Given the description of an element on the screen output the (x, y) to click on. 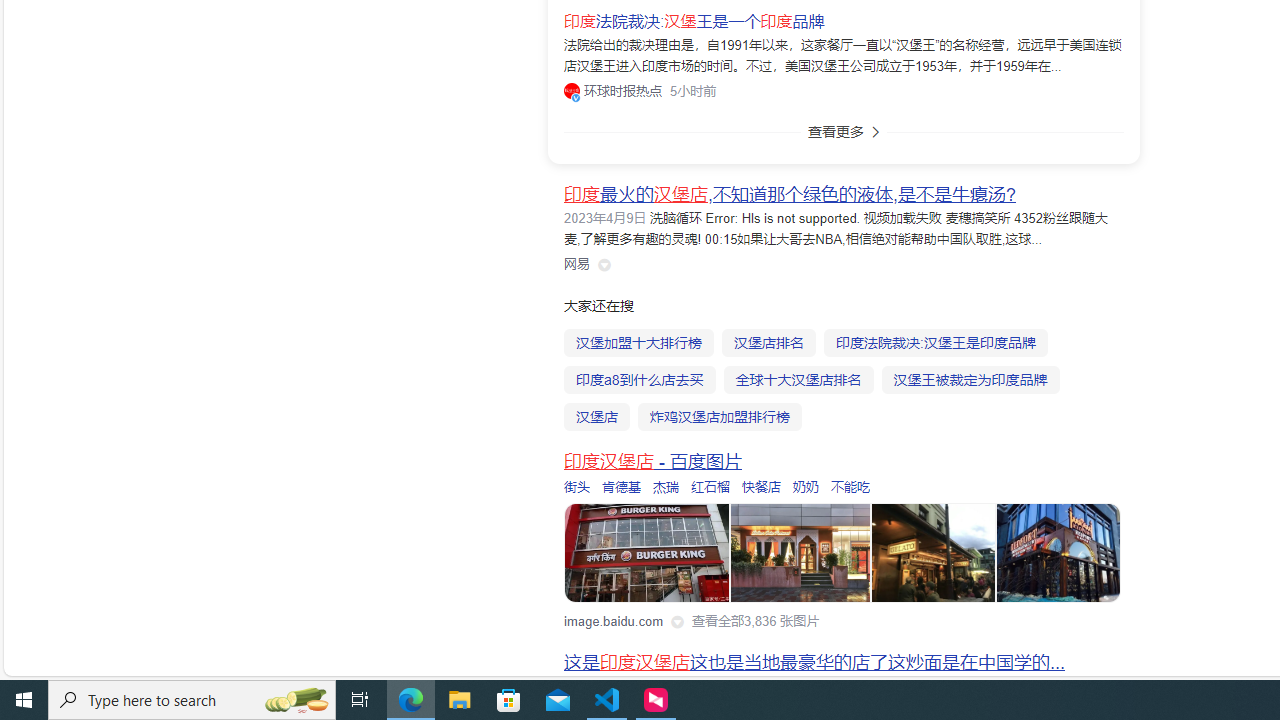
Class: siteLink_9TPP3 (577, 264)
